Given the description of an element on the screen output the (x, y) to click on. 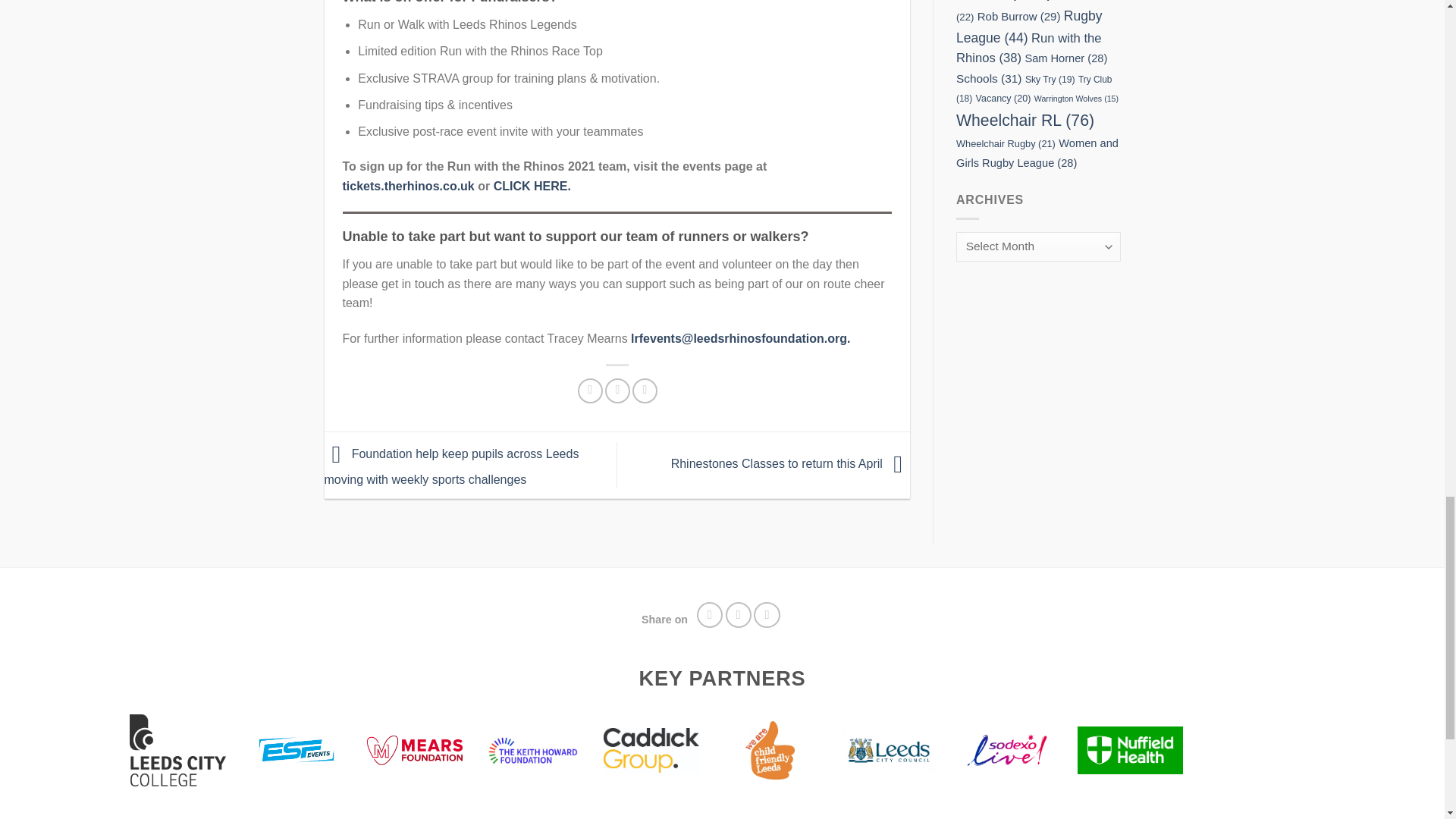
Email to a Friend (644, 390)
Share on Facebook (710, 614)
Share on Twitter (738, 614)
Share on Twitter (617, 390)
Share on Facebook (590, 390)
Email to a Friend (767, 614)
